Given the description of an element on the screen output the (x, y) to click on. 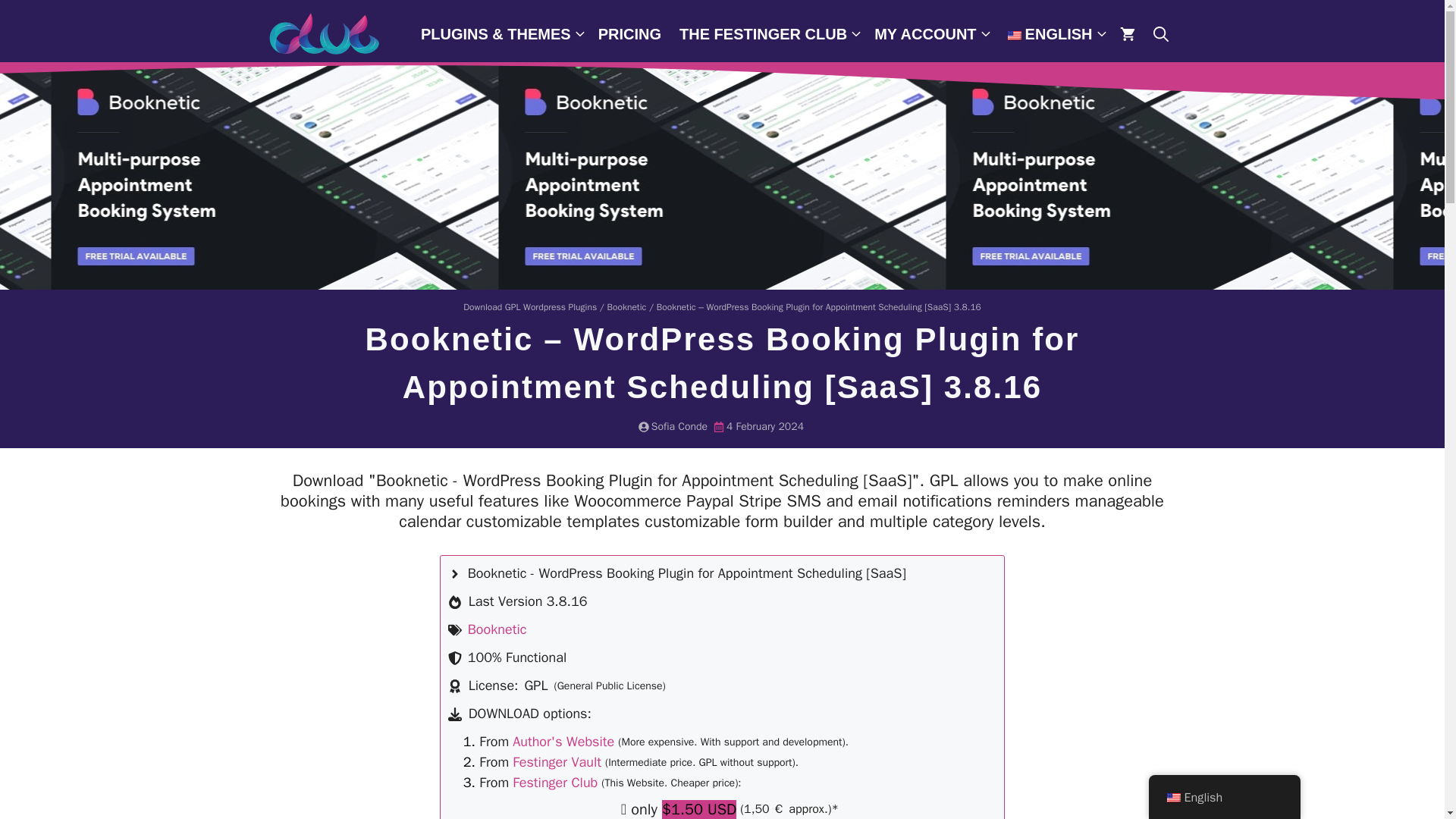
MY ACCOUNT (929, 33)
ENGLISH (1052, 33)
PRICING (629, 33)
View your shopping cart (1125, 33)
English (1014, 35)
THE FESTINGER CLUB (766, 33)
